Given the description of an element on the screen output the (x, y) to click on. 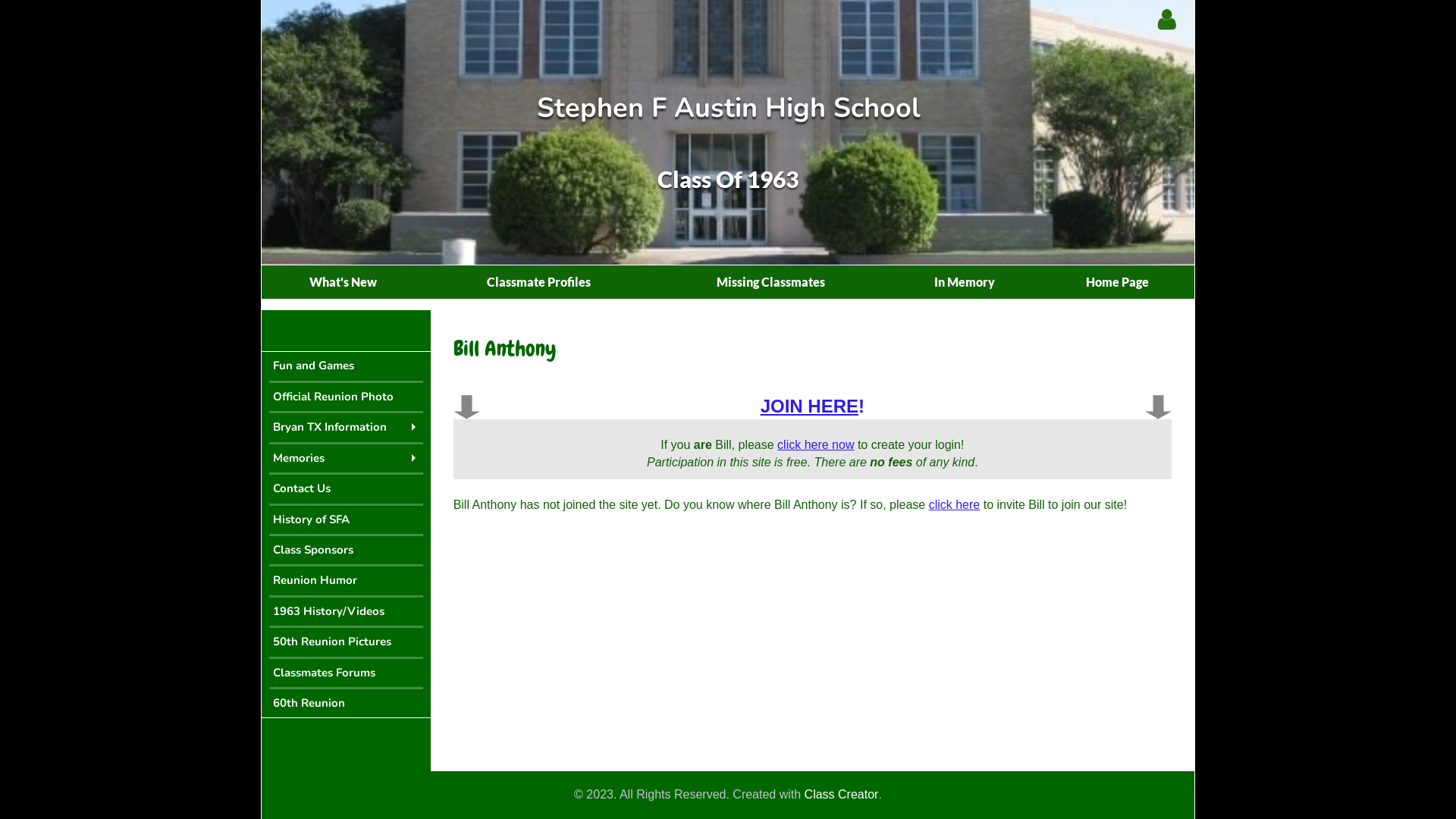
Official Reunion Photo Element type: text (346, 396)
Class Creator Element type: text (841, 794)
Missing Classmates Element type: text (770, 281)
50th Reunion Pictures Element type: text (346, 641)
Home Page Element type: text (1116, 281)
History of SFA Element type: text (346, 519)
1963 History/Videos Element type: text (346, 611)
Class Sponsors Element type: text (346, 549)
What's New Element type: text (342, 281)
In Memory Element type: text (964, 281)
Fun and Games Element type: text (346, 365)
Reunion Humor Element type: text (346, 580)
click here Element type: text (954, 504)
JOIN HERE! Element type: text (812, 405)
Classmate Login Element type: hover (1166, 20)
Classmate Profiles Element type: text (538, 281)
Bryan TX Information Element type: text (346, 427)
Memories Element type: text (346, 458)
60th Reunion Element type: text (346, 703)
Classmates Forums Element type: text (346, 672)
click here now Element type: text (815, 444)
Contact Us Element type: text (346, 488)
